Given the description of an element on the screen output the (x, y) to click on. 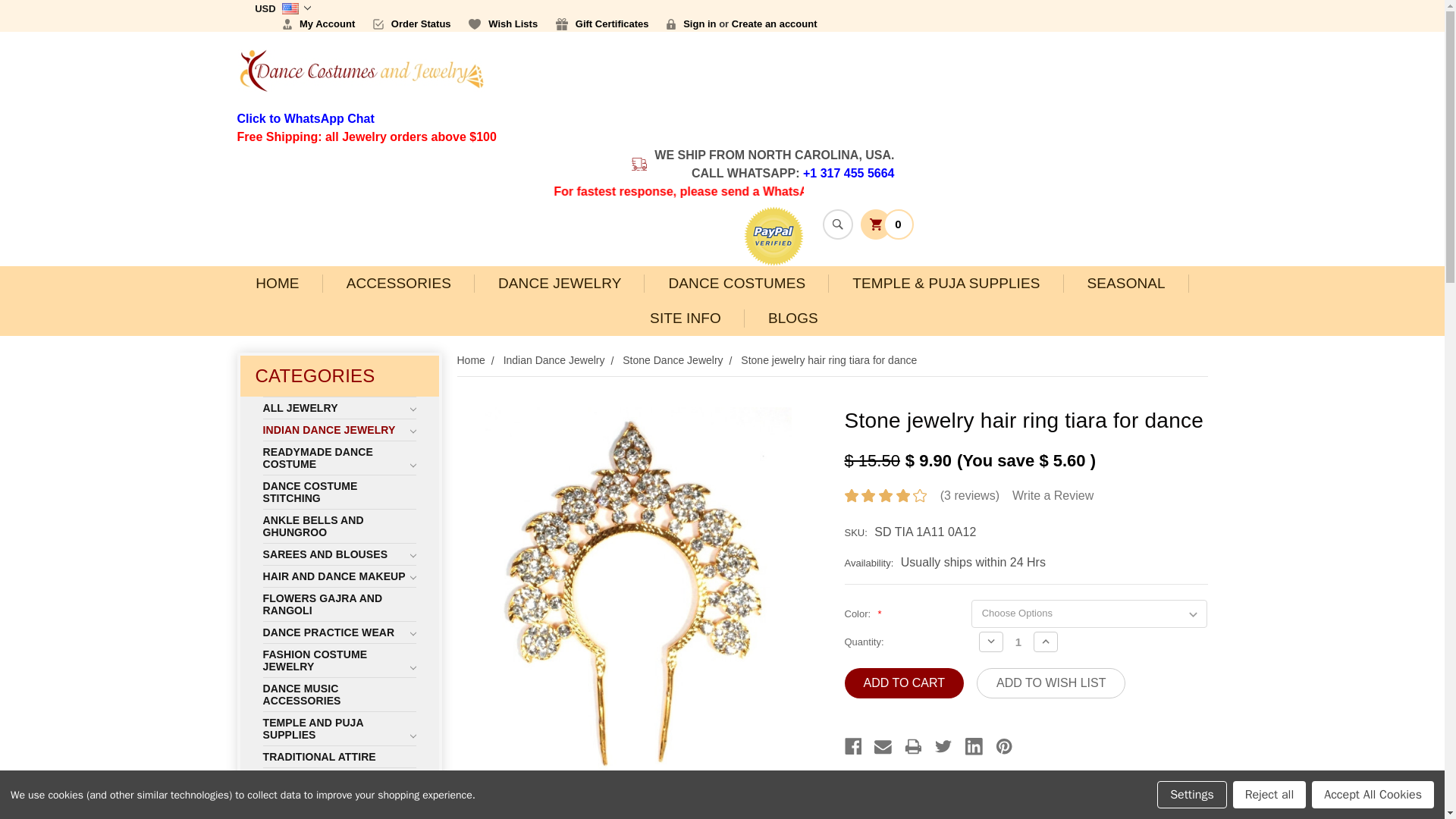
Stone jewelry hair ring tiara for dance (489, 802)
Search (837, 224)
Click to WhatsApp Chat (304, 118)
1 (1018, 641)
Create an account (774, 23)
Order Status (411, 23)
0 (886, 223)
Sign in (691, 23)
Stone jewelry hair ring tiara for dance (563, 802)
Add to Cart (903, 683)
My Account (318, 23)
Stone jewelry hair ring tiara for dance (637, 588)
Wish Lists (502, 23)
Dance Costumes And Jewelry (359, 70)
